Given the description of an element on the screen output the (x, y) to click on. 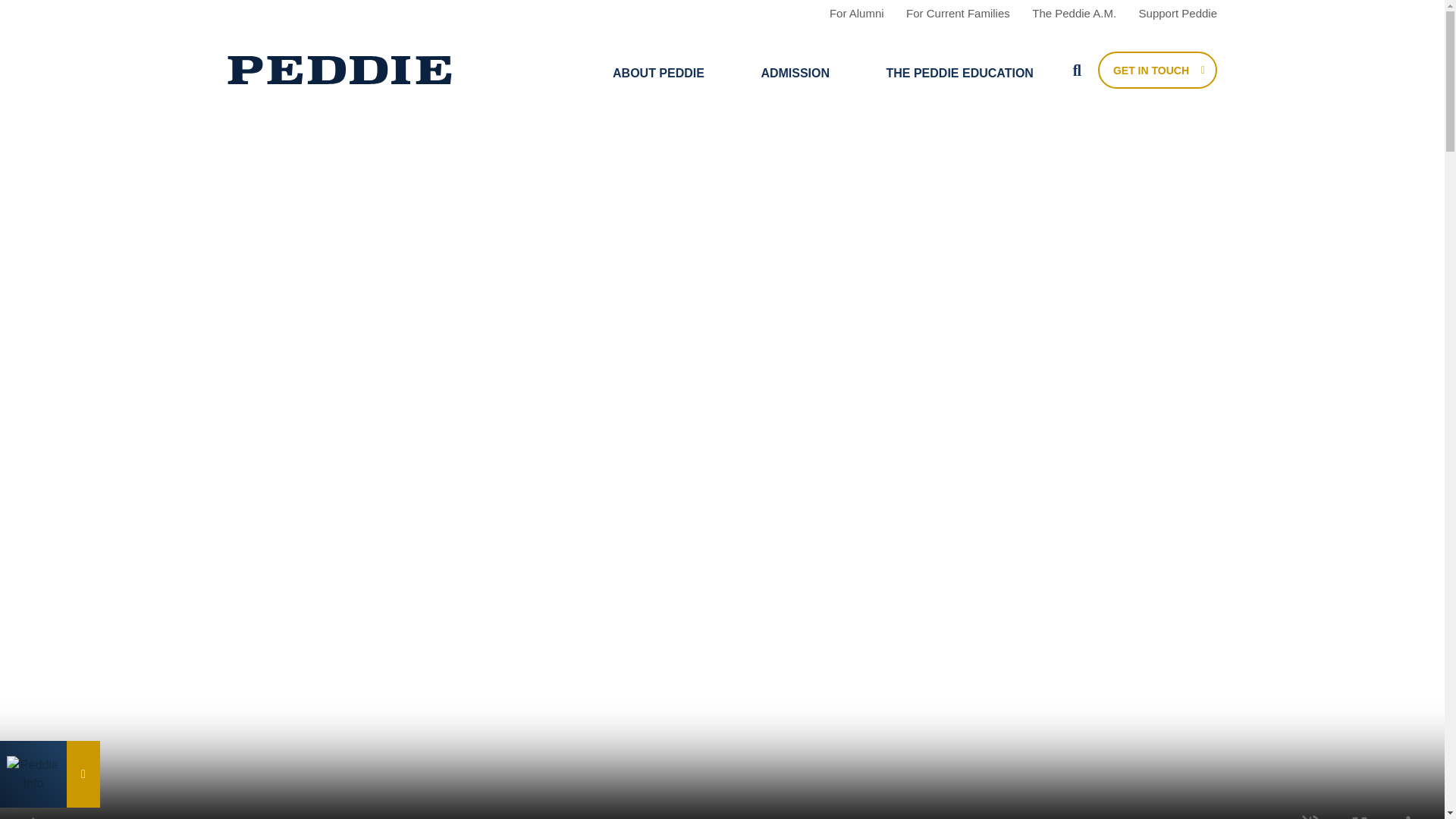
The Peddie A.M. (1074, 12)
THE PEDDIE EDUCATION (959, 77)
For Alumni (856, 12)
Support Peddie (1177, 12)
For Current Families (957, 12)
ABOUT PEDDIE (658, 77)
ADMISSION (794, 77)
